Given the description of an element on the screen output the (x, y) to click on. 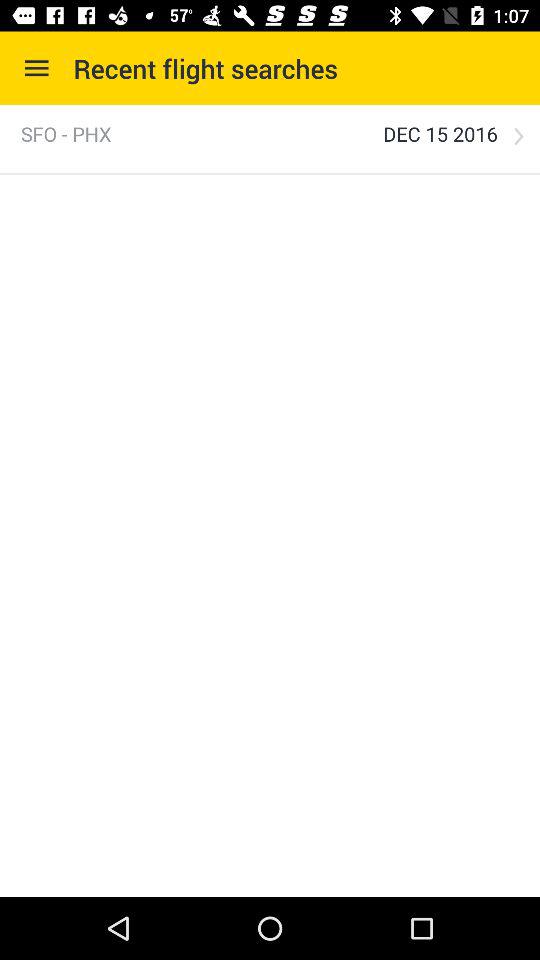
scroll to sfo - phx icon (66, 133)
